Given the description of an element on the screen output the (x, y) to click on. 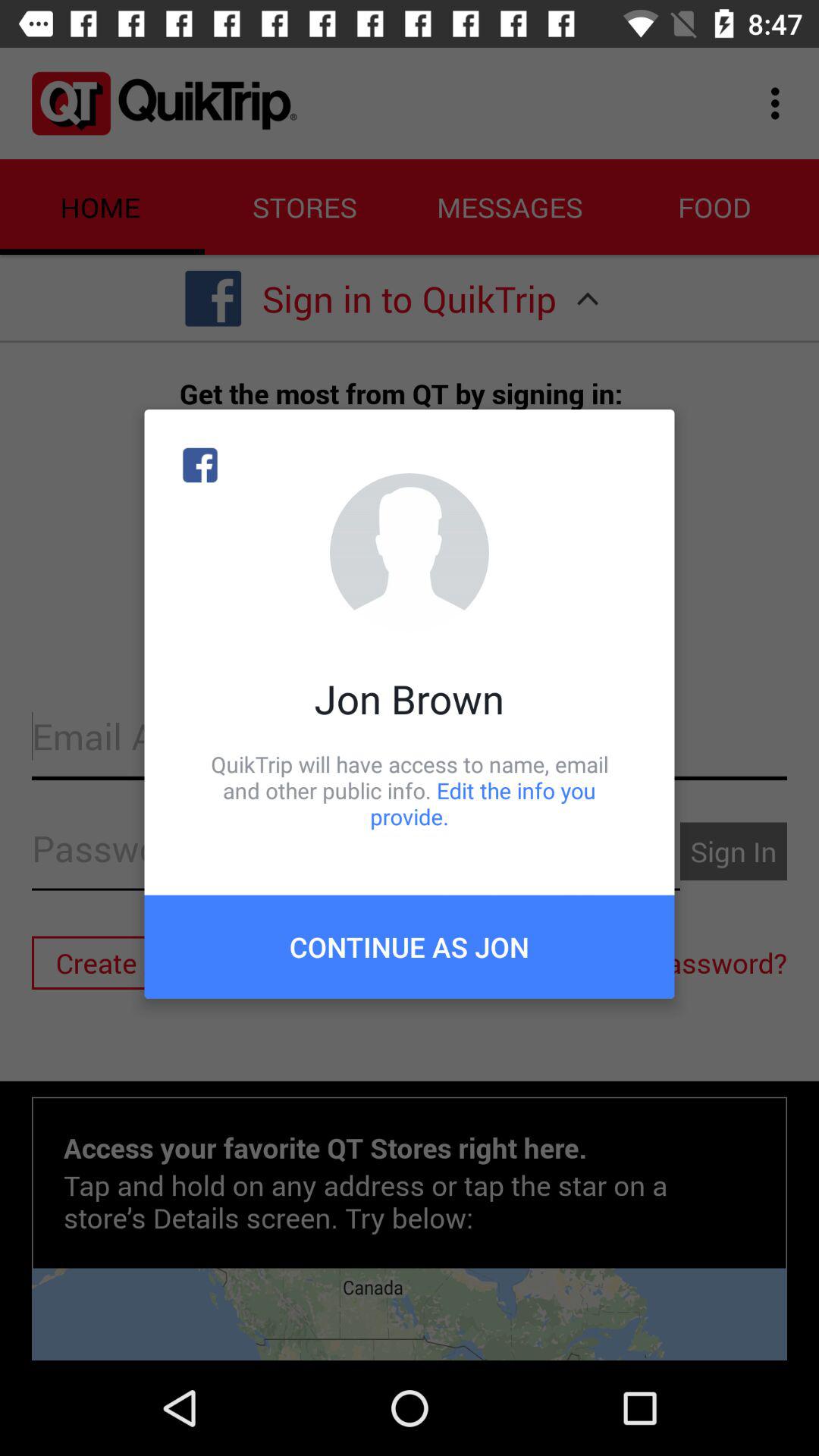
scroll until continue as jon (409, 946)
